Given the description of an element on the screen output the (x, y) to click on. 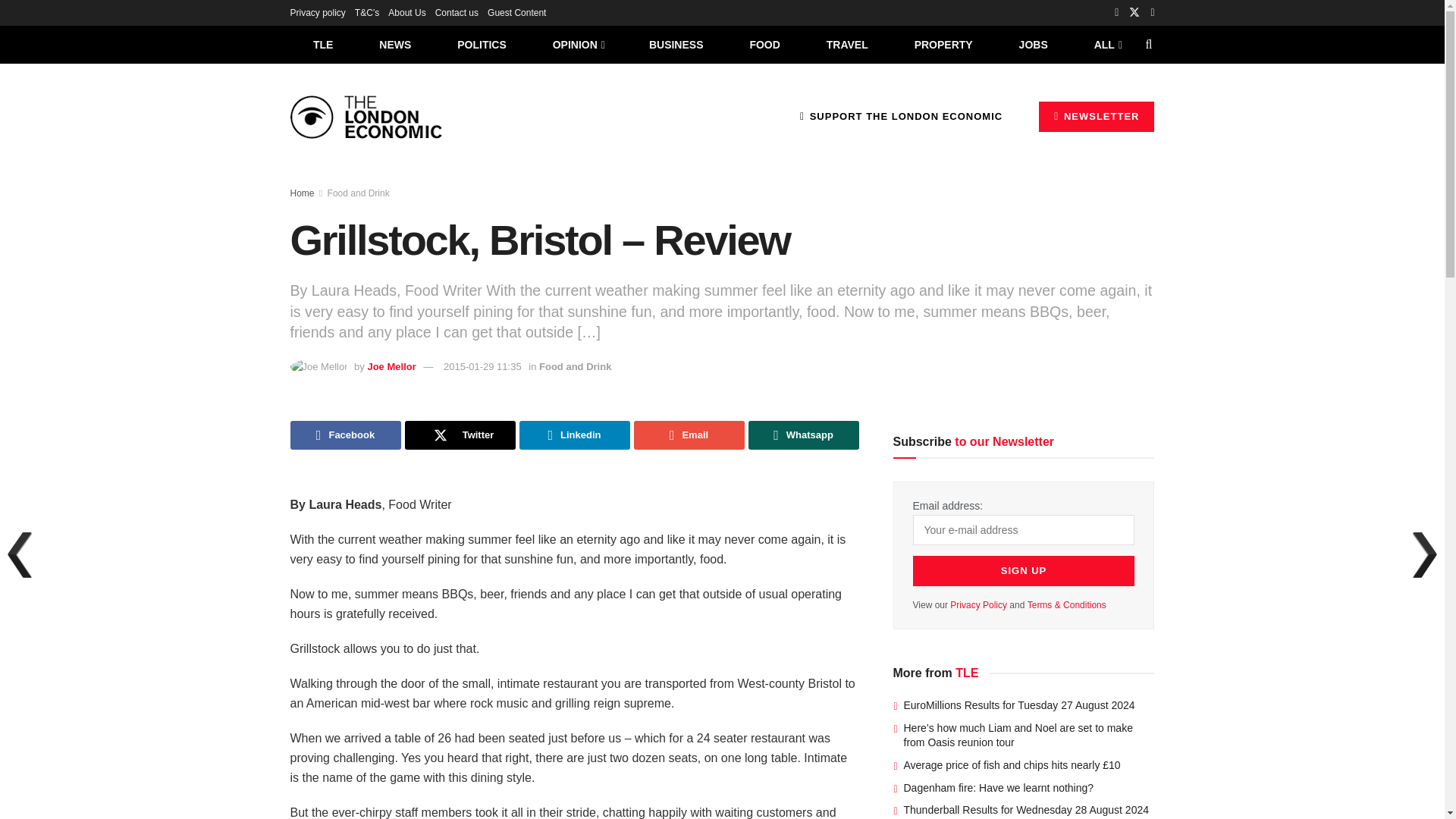
ALL (1106, 44)
About Us (406, 12)
TLE (322, 44)
FOOD (764, 44)
NEWS (394, 44)
PROPERTY (943, 44)
SUPPORT THE LONDON ECONOMIC (900, 116)
BUSINESS (676, 44)
NEWSLETTER (1096, 116)
Sign up (1023, 571)
